Given the description of an element on the screen output the (x, y) to click on. 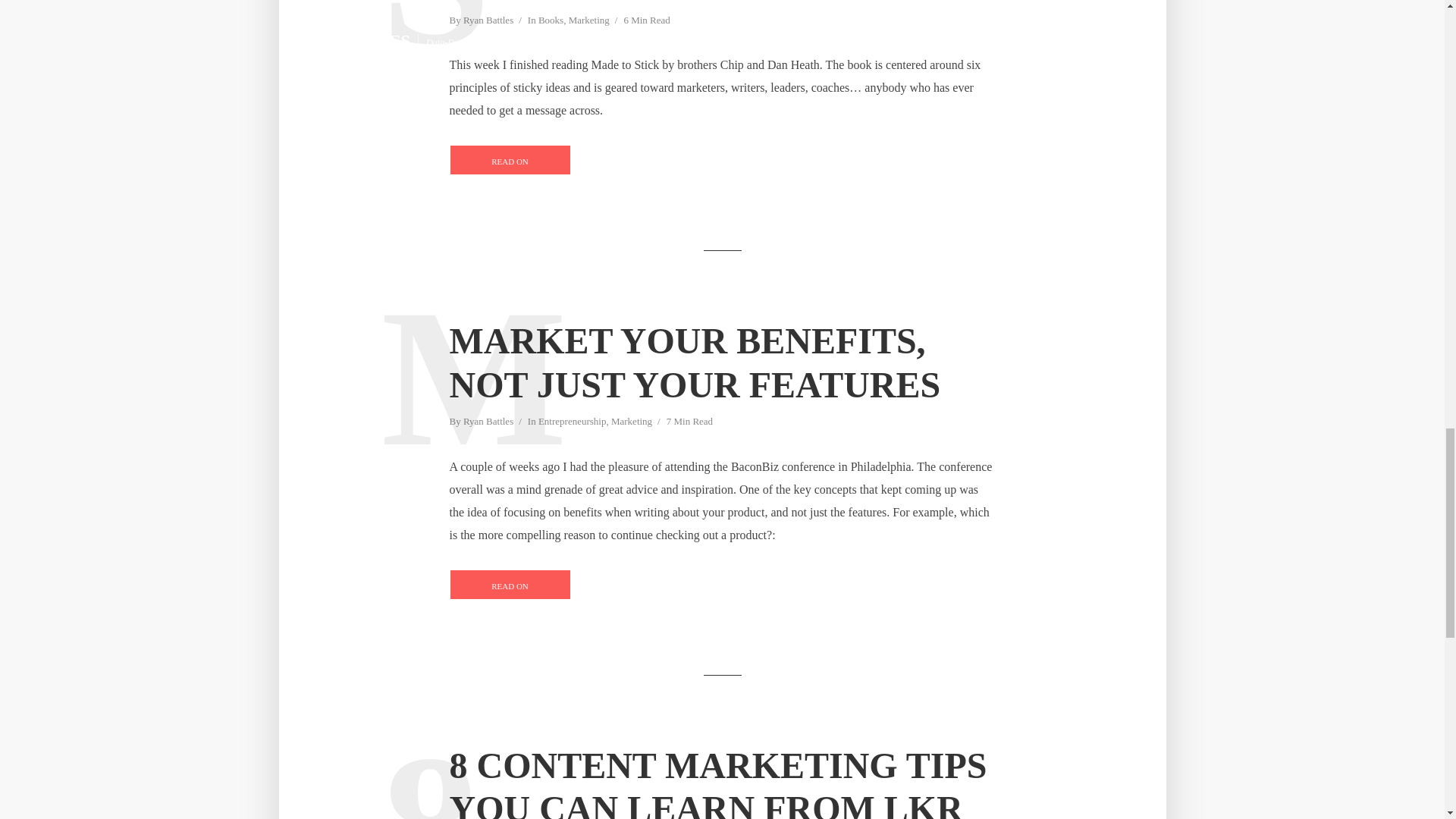
Ryan Battles (488, 21)
MARKET YOUR BENEFITS, NOT JUST YOUR FEATURES (721, 362)
Entrepreneurship (572, 422)
Books (550, 21)
Marketing (631, 422)
READ ON (509, 584)
READ ON (509, 159)
Marketing (589, 21)
Ryan Battles (488, 422)
